Given the description of an element on the screen output the (x, y) to click on. 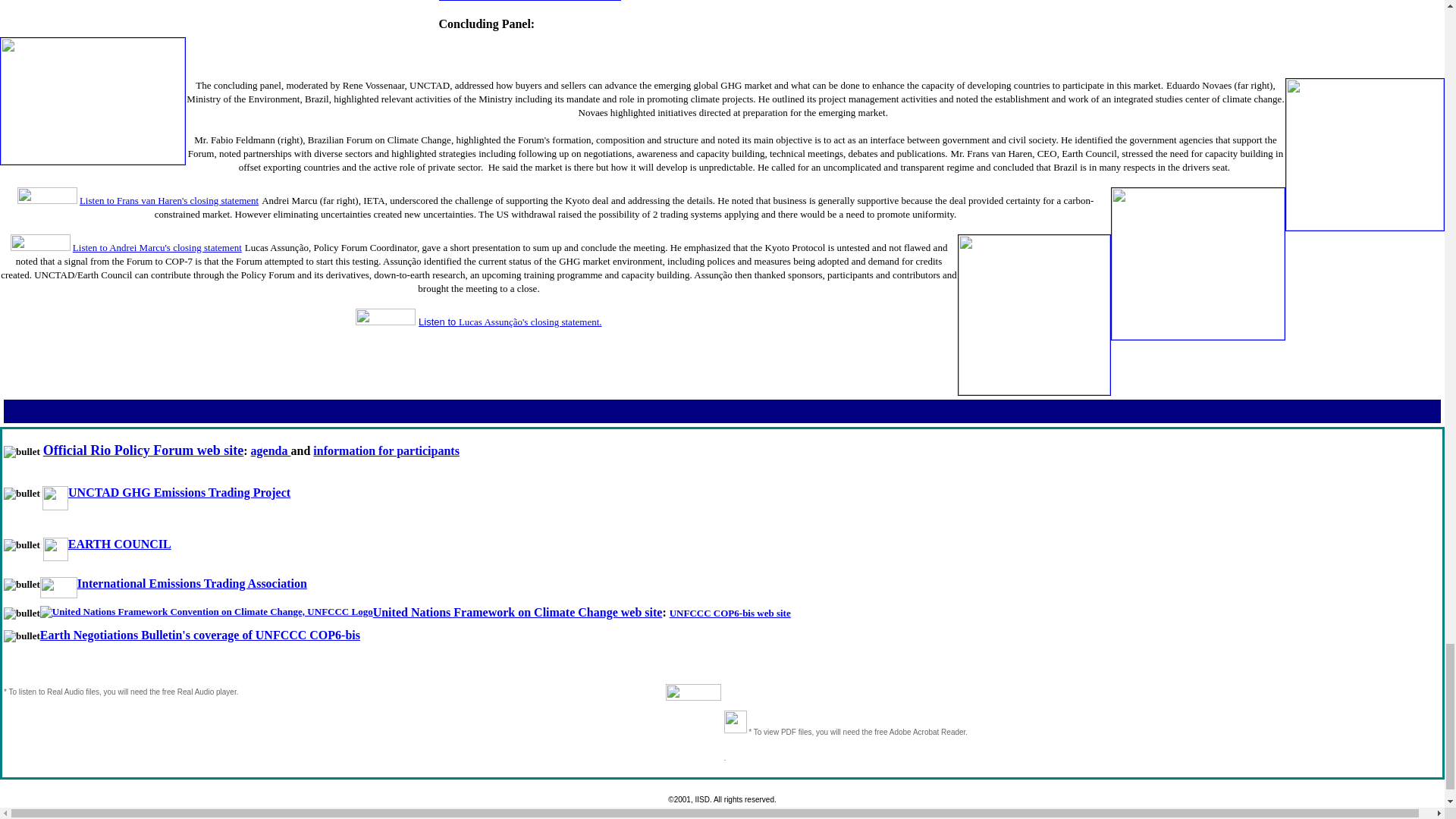
Listen to Andrei Marcu's closing statement (156, 247)
Official Rio Policy Forum web site (143, 450)
Listen to (438, 321)
agenda (270, 450)
Listen to Frans van Haren's closing statement (169, 200)
